Given the description of an element on the screen output the (x, y) to click on. 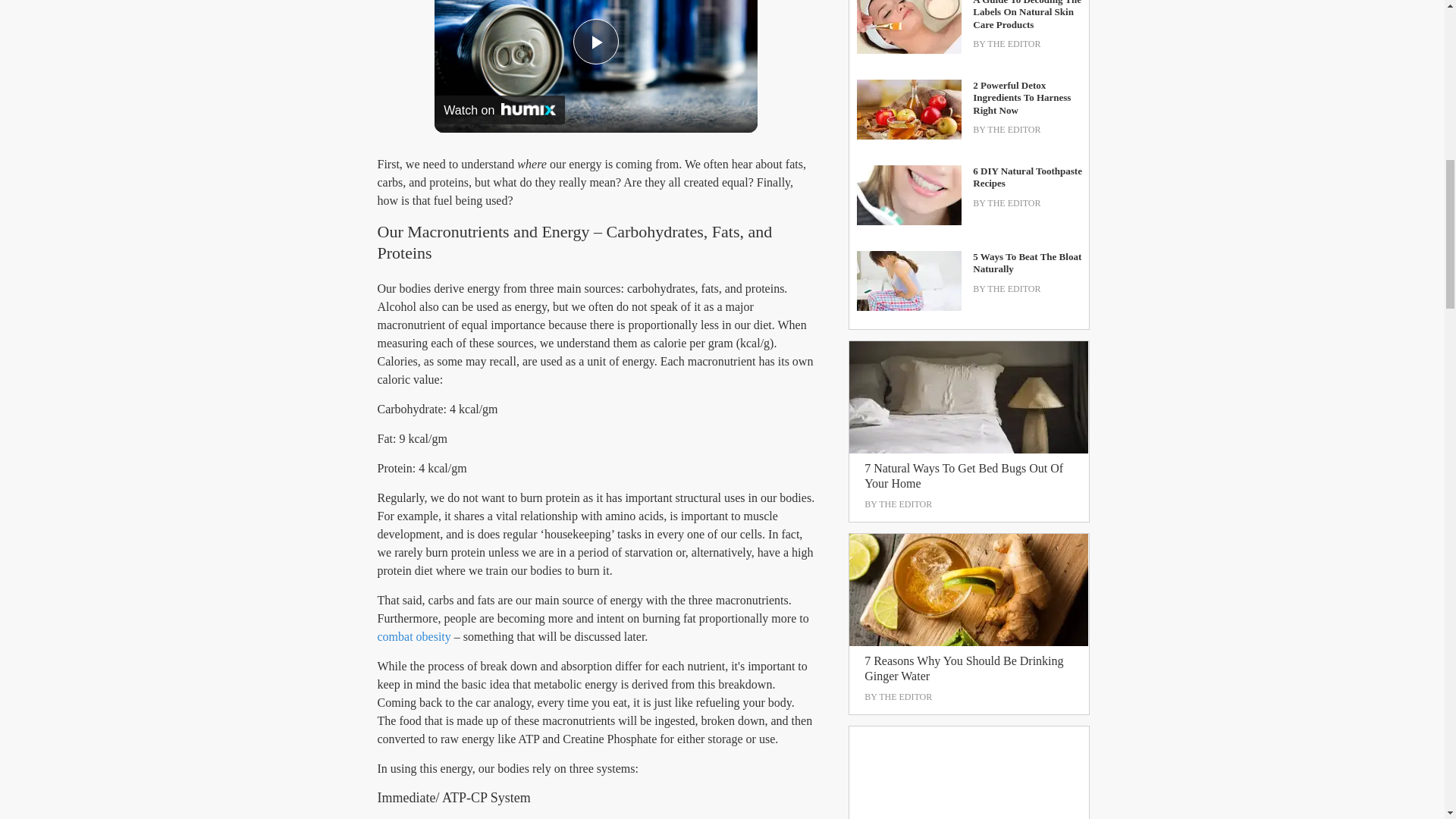
Play Video (595, 41)
Obesity in America: The Culprit and The Cure (414, 635)
